Given the description of an element on the screen output the (x, y) to click on. 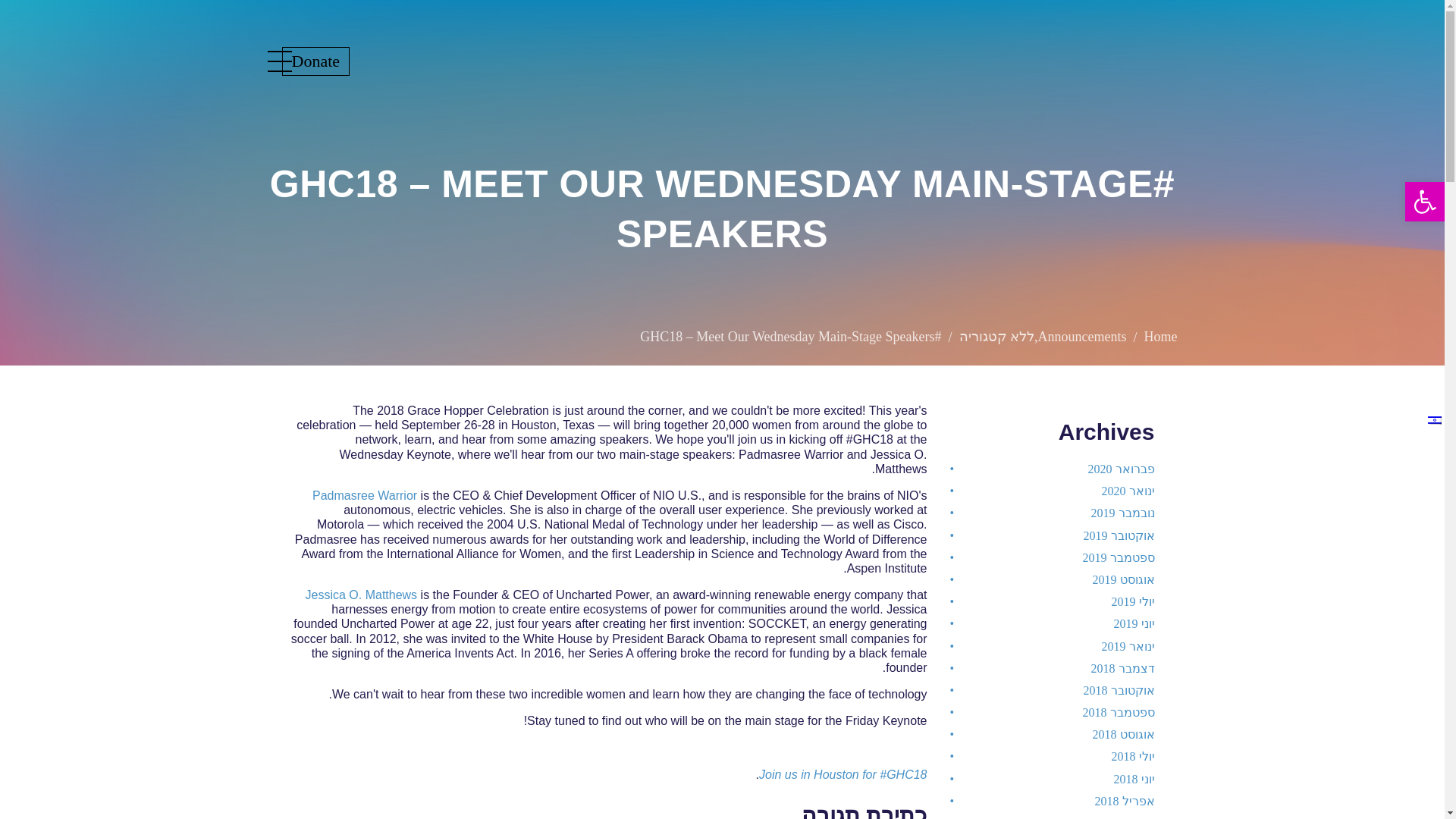
Grace Hopper Celebration (1159, 336)
Home (1159, 336)
Jessica O. Matthews (361, 594)
Padmasree Warrior (364, 495)
Announcements (1080, 336)
Donate (316, 61)
